Given the description of an element on the screen output the (x, y) to click on. 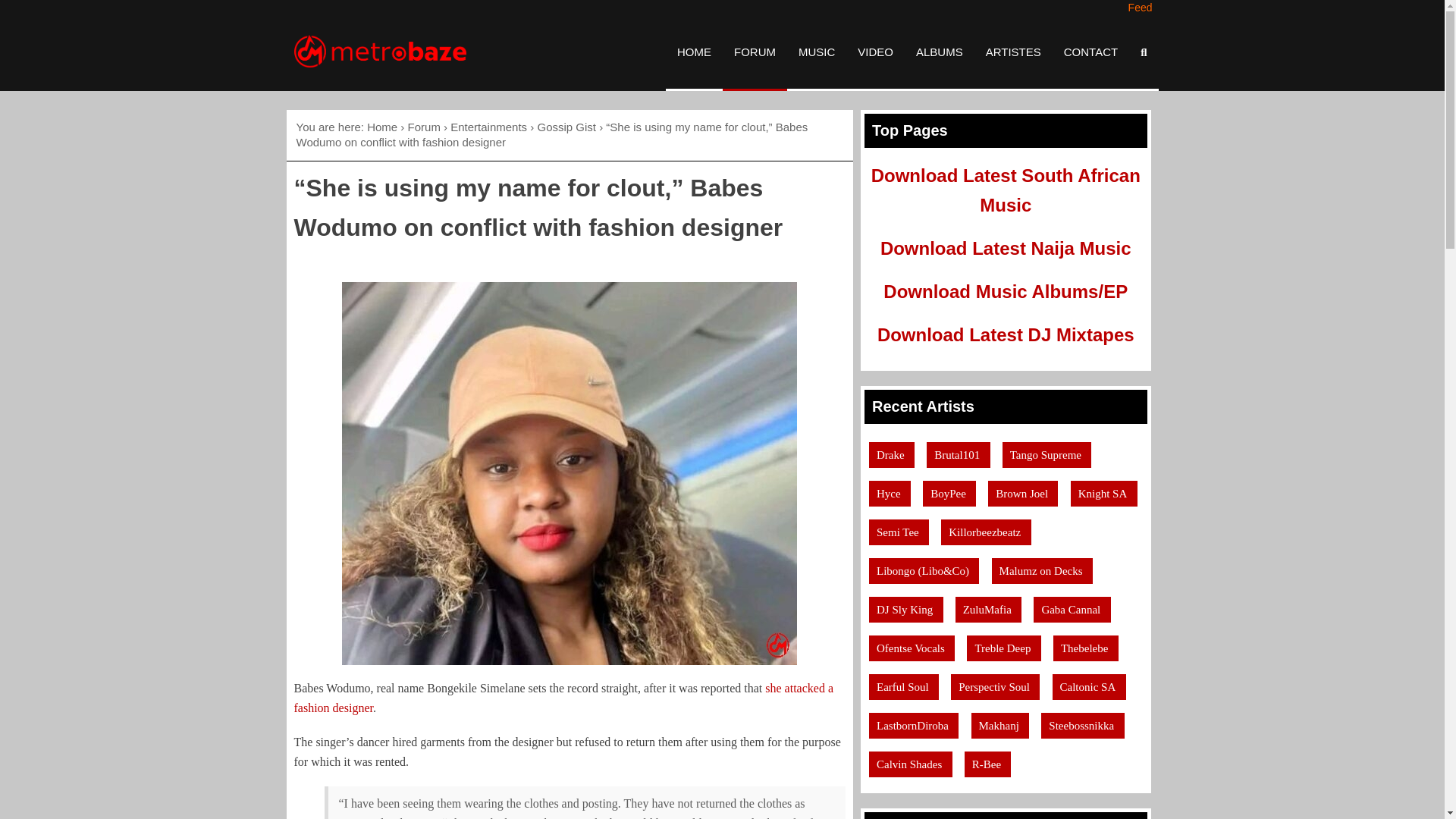
Download Latest Naija Music (1005, 248)
Gossip Gist (566, 126)
CONTACT (1090, 51)
Drake (888, 454)
ALBUMS (939, 51)
Download Latest South African Music (1005, 190)
Forum (424, 126)
Download Latest DJ Mixtapes (1005, 334)
she attacked a fashion designer (564, 697)
Home (381, 126)
